Given the description of an element on the screen output the (x, y) to click on. 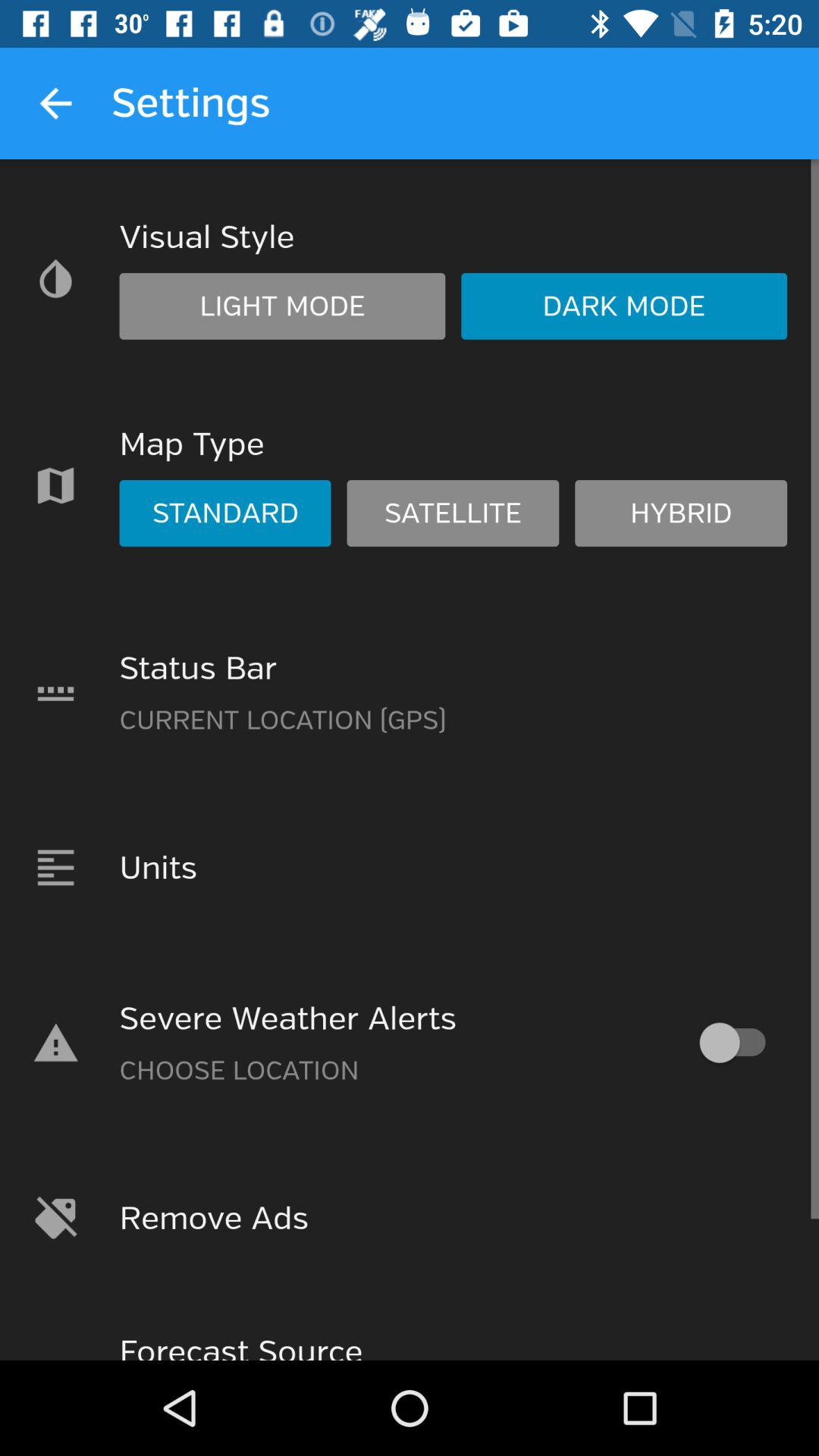
click item above the visual style icon (55, 103)
